Given the description of an element on the screen output the (x, y) to click on. 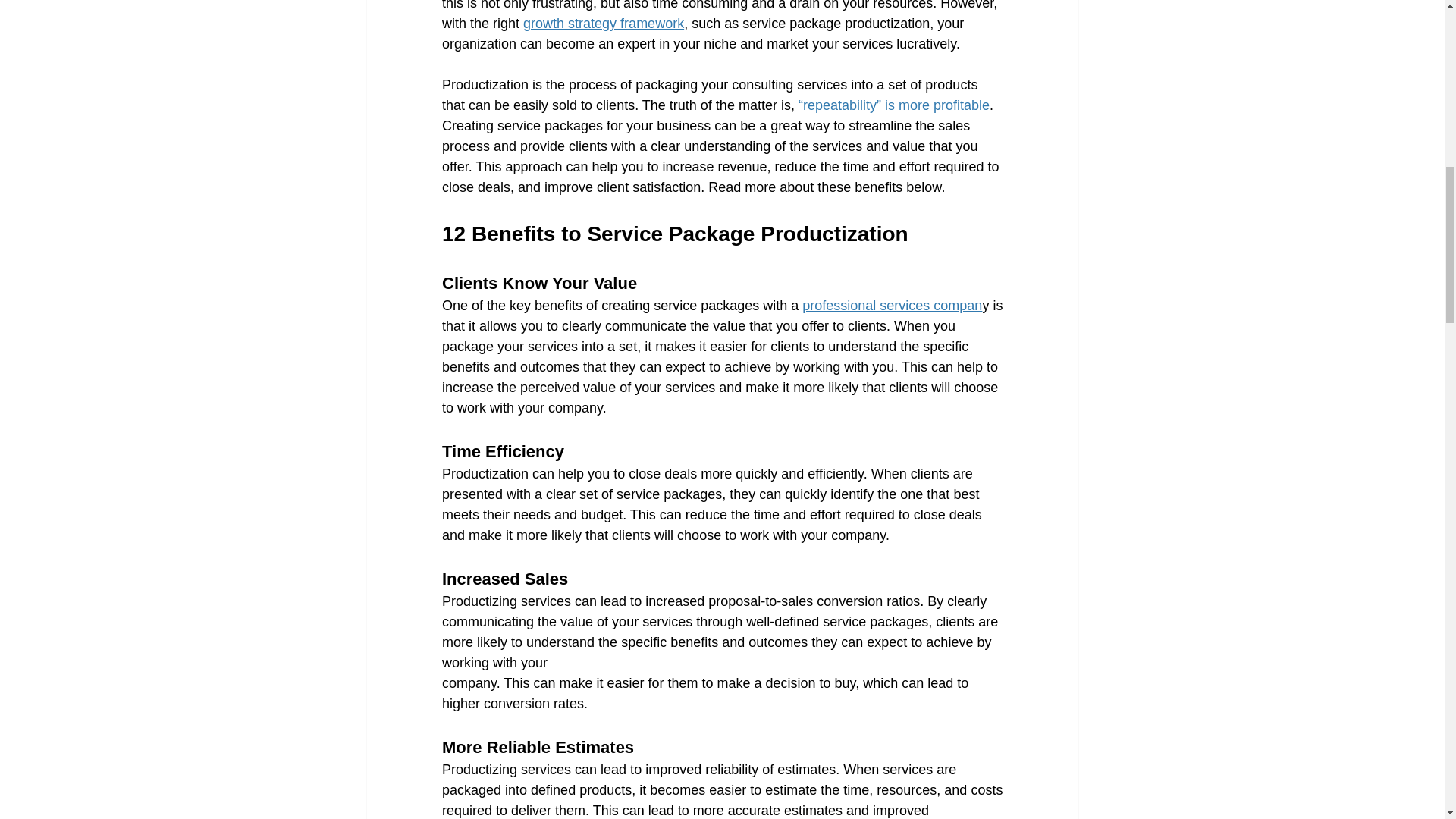
professional services compan (891, 305)
growth strategy framework (603, 23)
